Given the description of an element on the screen output the (x, y) to click on. 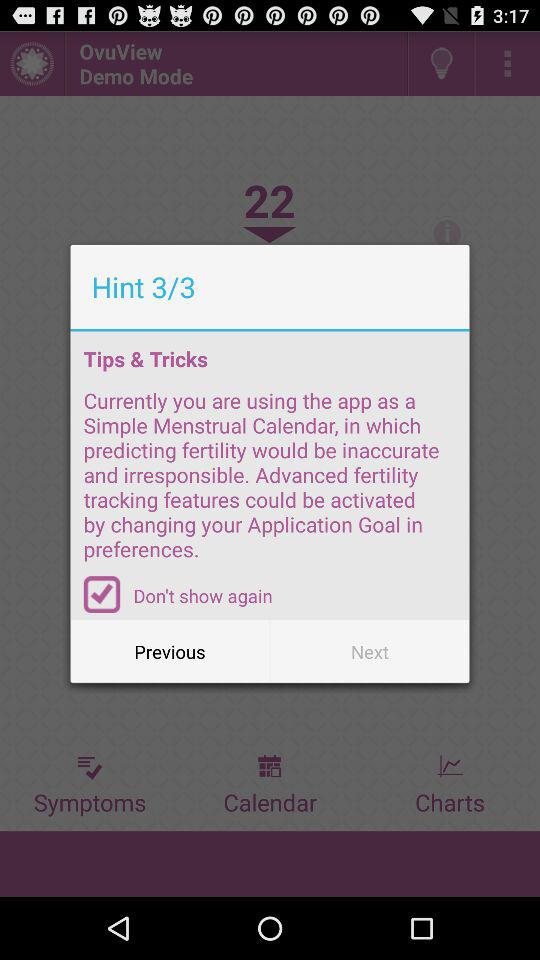
select the button to the left of the next icon (169, 651)
